Given the description of an element on the screen output the (x, y) to click on. 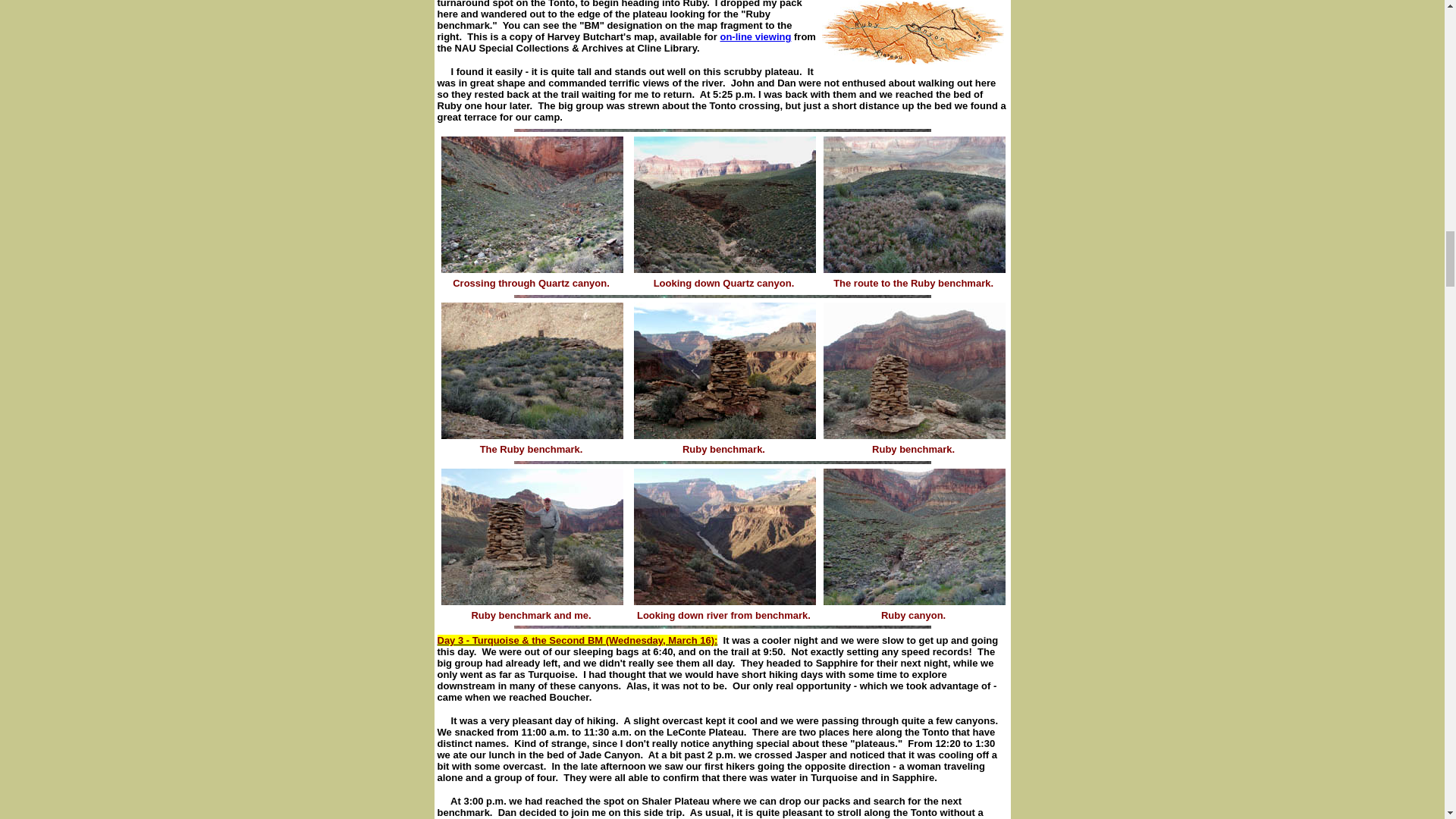
on-line viewing (754, 36)
